Given the description of an element on the screen output the (x, y) to click on. 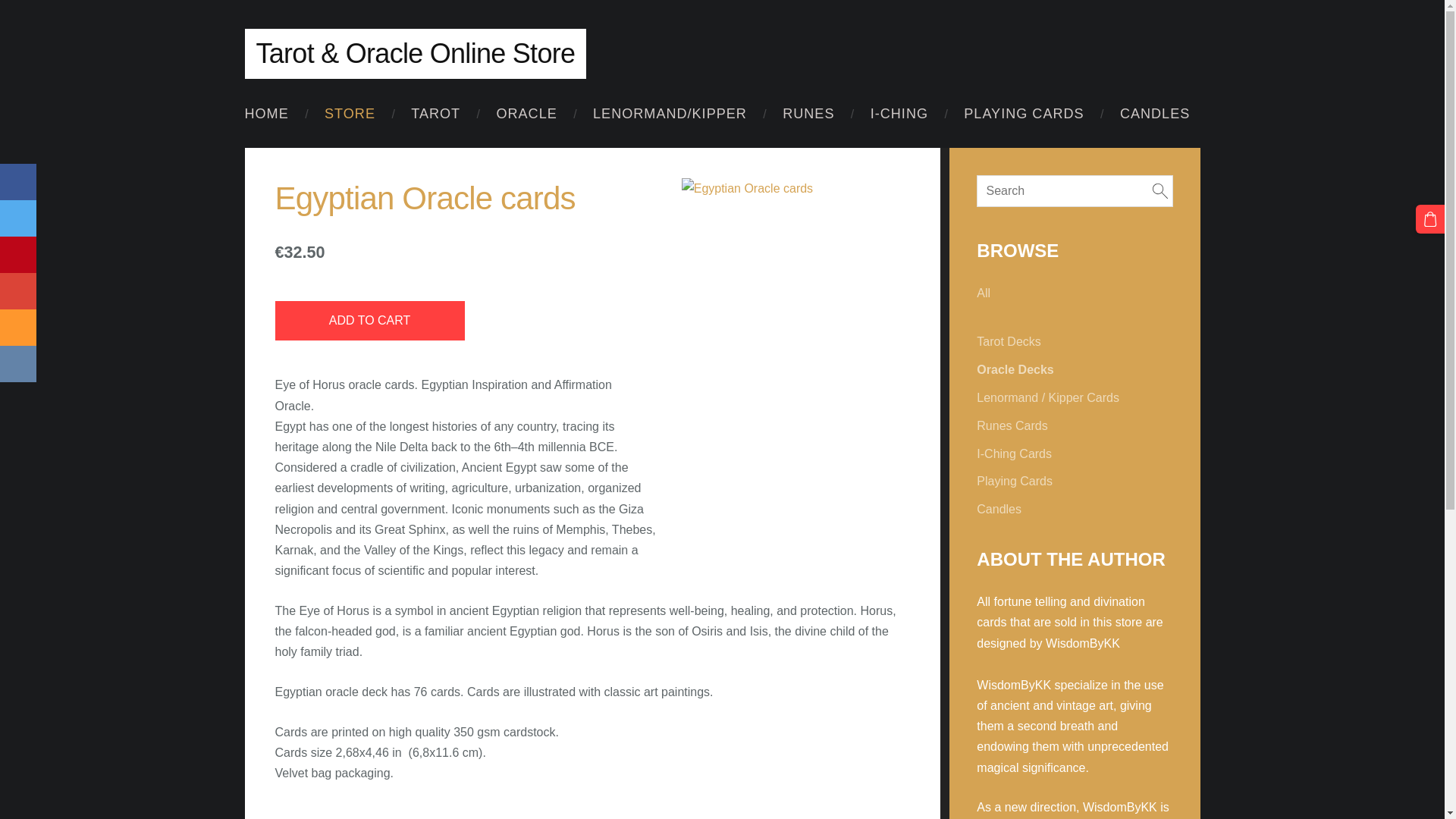
HOME (266, 113)
Oracle Decks (1014, 369)
I-CHING (898, 113)
Egyptian Oracle cards (735, 260)
CANDLES (1154, 113)
Egyptian Oracle cards (857, 260)
Egyptian Oracle cards (857, 481)
Egyptian Oracle cards (796, 188)
Playing Cards (1014, 480)
I-Ching Cards (1013, 453)
TAROT (435, 113)
Runes Cards (1011, 425)
Egyptian Oracle cards (735, 481)
Share (18, 290)
STORE (349, 113)
